Given the description of an element on the screen output the (x, y) to click on. 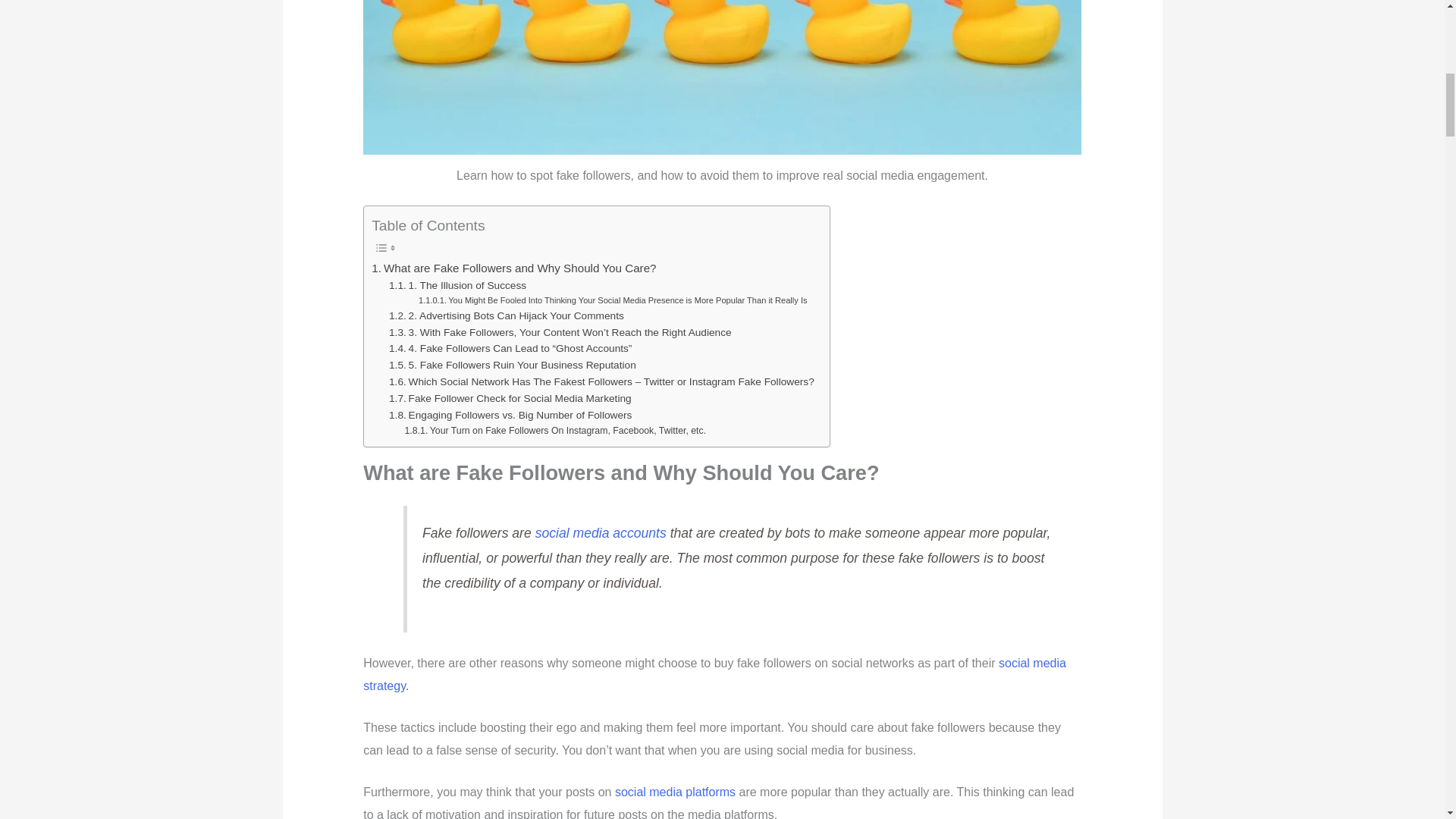
Fake Follower Check for Social Media Marketing (509, 398)
5. Fake Followers Ruin Your Business Reputation (512, 365)
Engaging Followers vs. Big Number of Followers (509, 415)
What are Fake Followers and Why Should You Care? (513, 268)
1. The Illusion of Success (456, 285)
2. Advertising Bots Can Hijack Your Comments (506, 315)
